Given the description of an element on the screen output the (x, y) to click on. 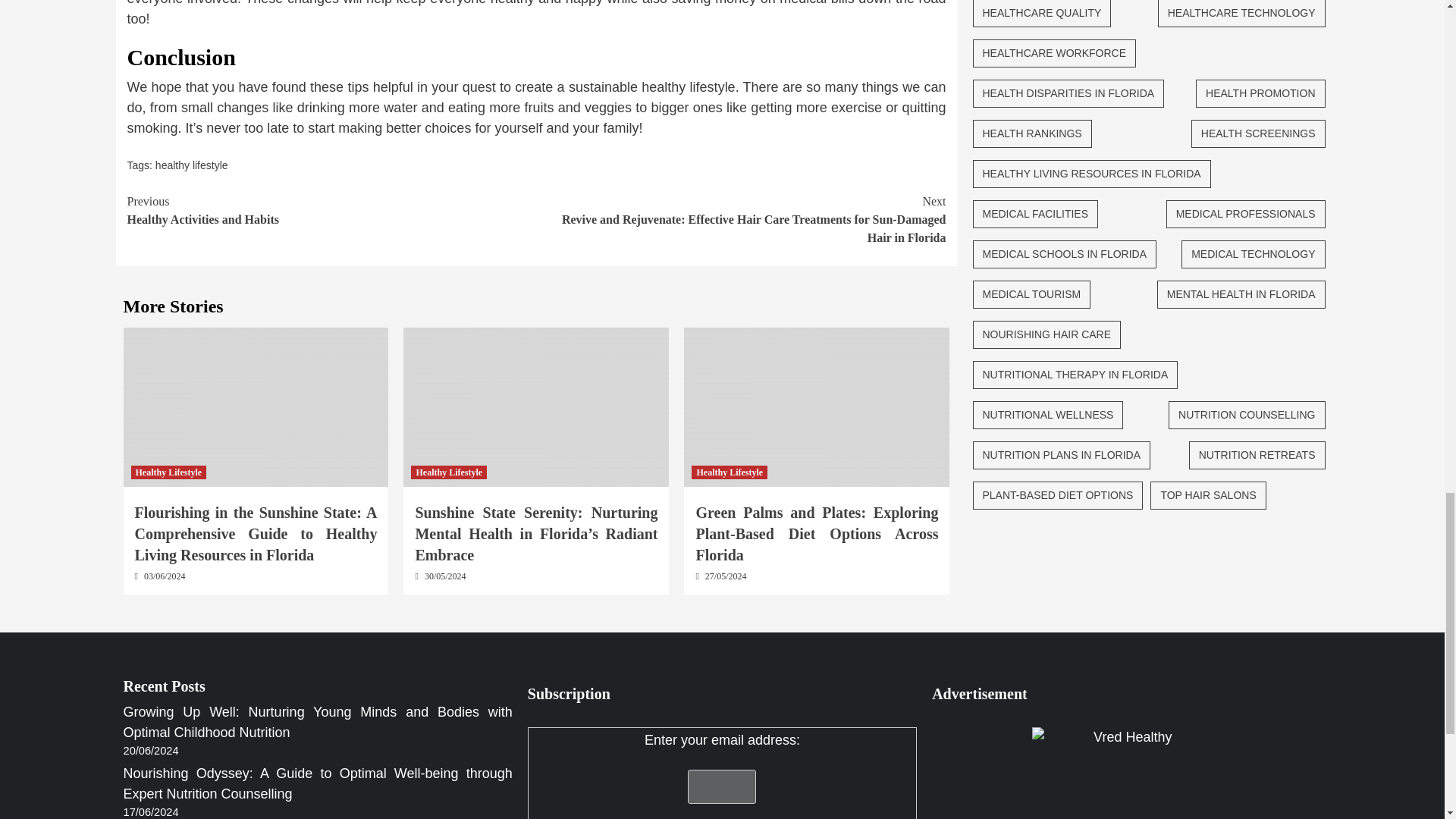
Healthy Lifestyle (168, 472)
Healthy Lifestyle (448, 472)
healthy lifestyle (332, 210)
Vred Healthy (191, 164)
Healthy Lifestyle (1126, 773)
